Given the description of an element on the screen output the (x, y) to click on. 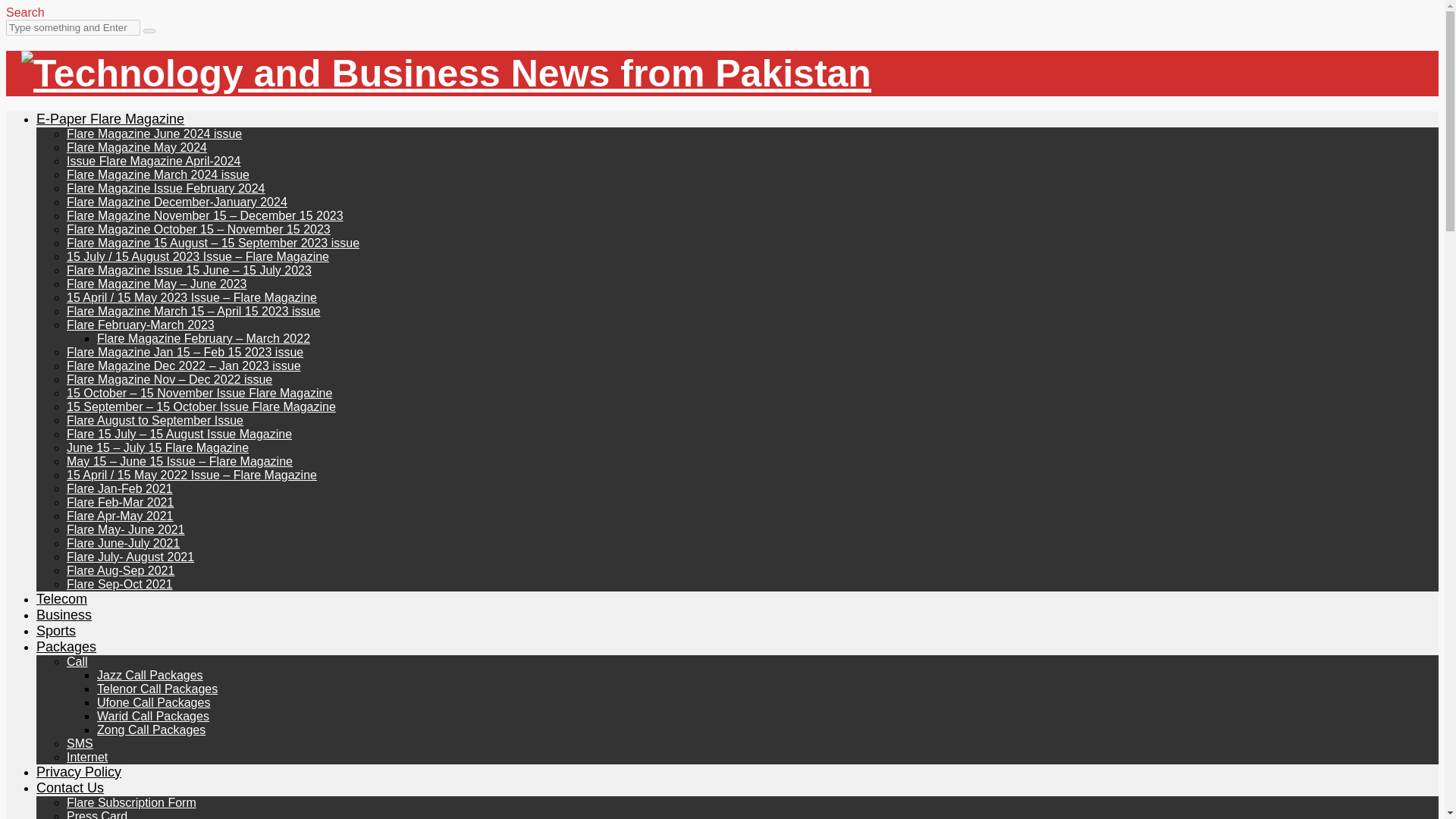
Flare Magazine Issue February 2024 (165, 187)
Flare August to September Issue (154, 420)
Flare Jan-Feb 2021 (119, 488)
Flare Magazine March 2024 issue (157, 174)
Flare February-March 2023 (140, 324)
Flare Magazine December-January 2024 (176, 201)
Flare June-July 2021 (122, 543)
Flare Apr-May 2021 (119, 515)
Flare Magazine June 2024 issue (153, 133)
Flare July- August 2021 (129, 556)
Search (25, 11)
Issue Flare Magazine April-2024 (153, 160)
E-Paper Flare Magazine (110, 118)
Flare Magazine May 2024 (136, 146)
Flare May- June 2021 (125, 529)
